Given the description of an element on the screen output the (x, y) to click on. 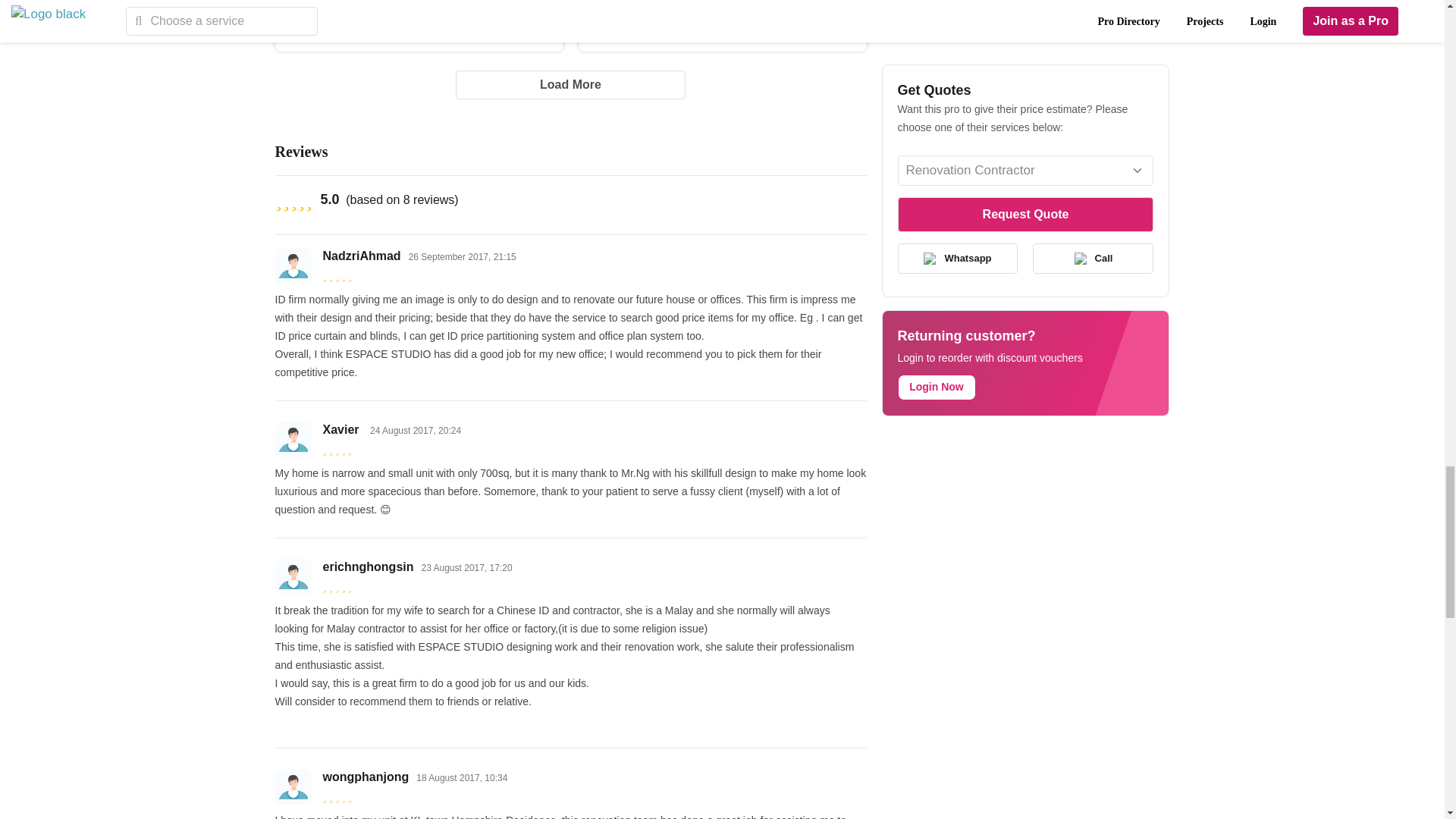
Glenmarrie Temasya Citra (356, 13)
